Given the description of an element on the screen output the (x, y) to click on. 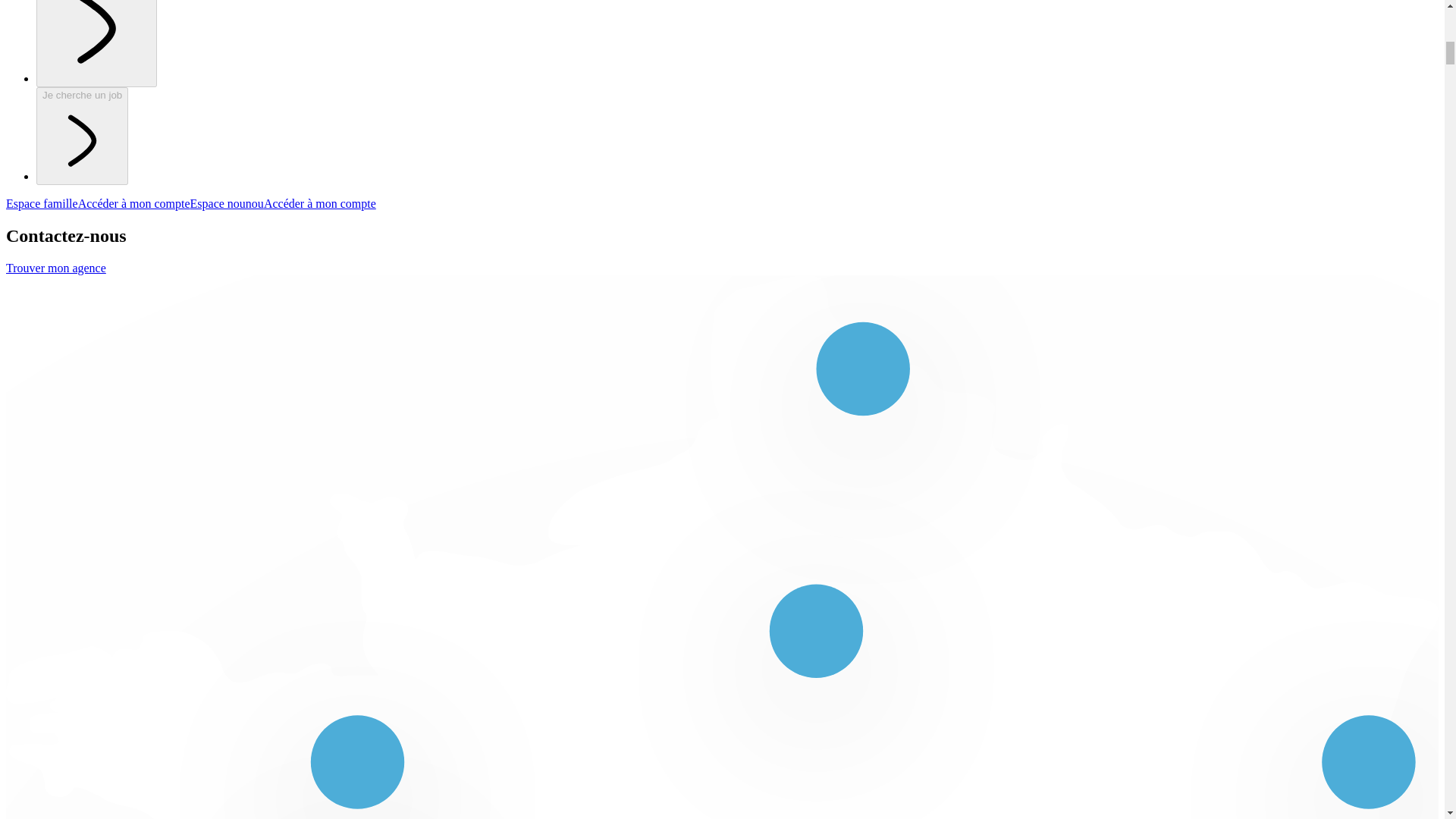
Trouver mon agence (55, 267)
Je cherche un job (82, 135)
Je cherche une nounou (96, 43)
